Given the description of an element on the screen output the (x, y) to click on. 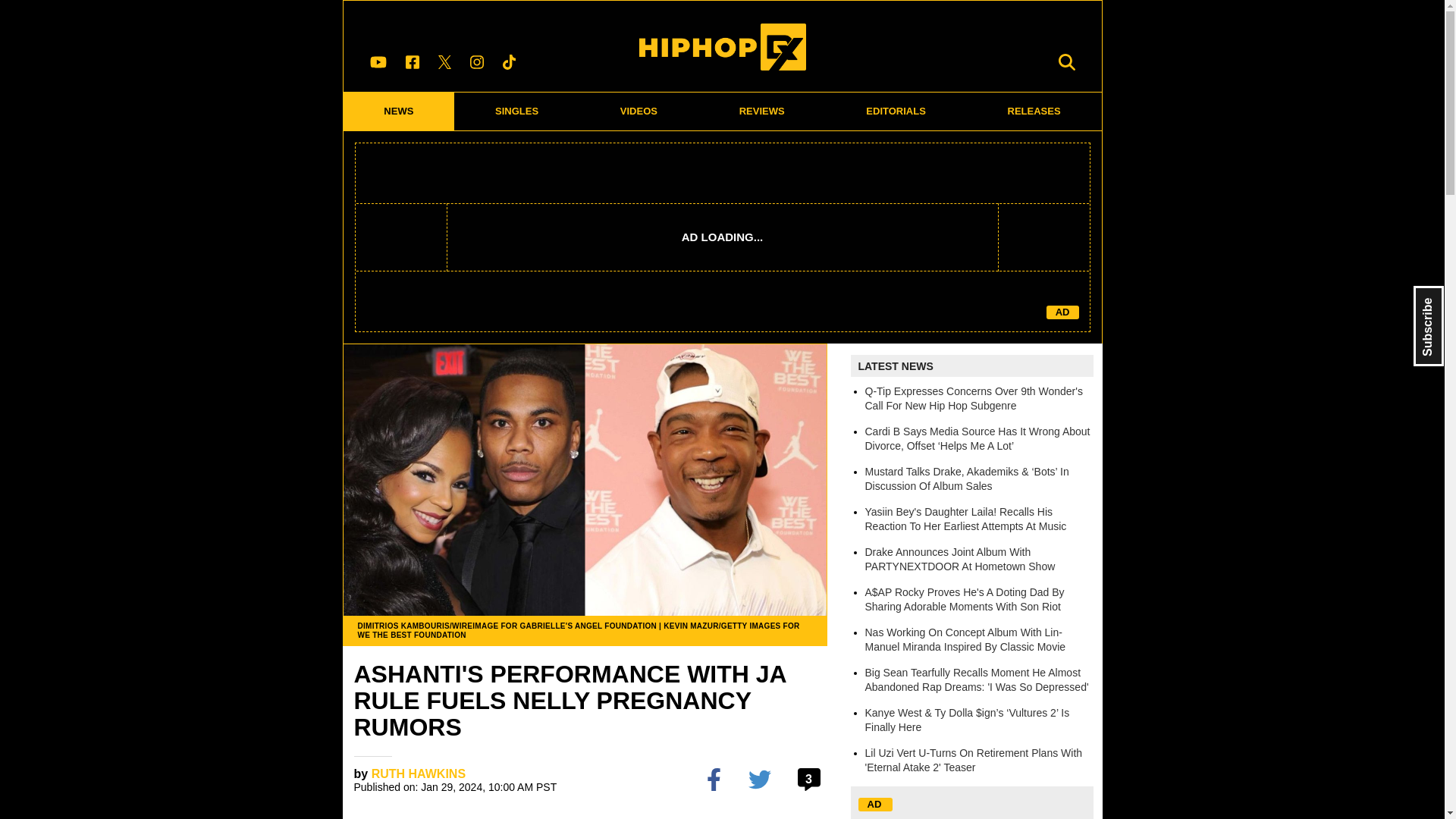
RUTH HAWKINS (418, 773)
SINGLES (516, 111)
Nelly (777, 817)
3 (810, 779)
NEWS (398, 111)
EDITORIALS (895, 111)
VIDEOS (638, 111)
REVIEWS (761, 111)
RELEASES (1034, 111)
Ashanti (376, 817)
